Given the description of an element on the screen output the (x, y) to click on. 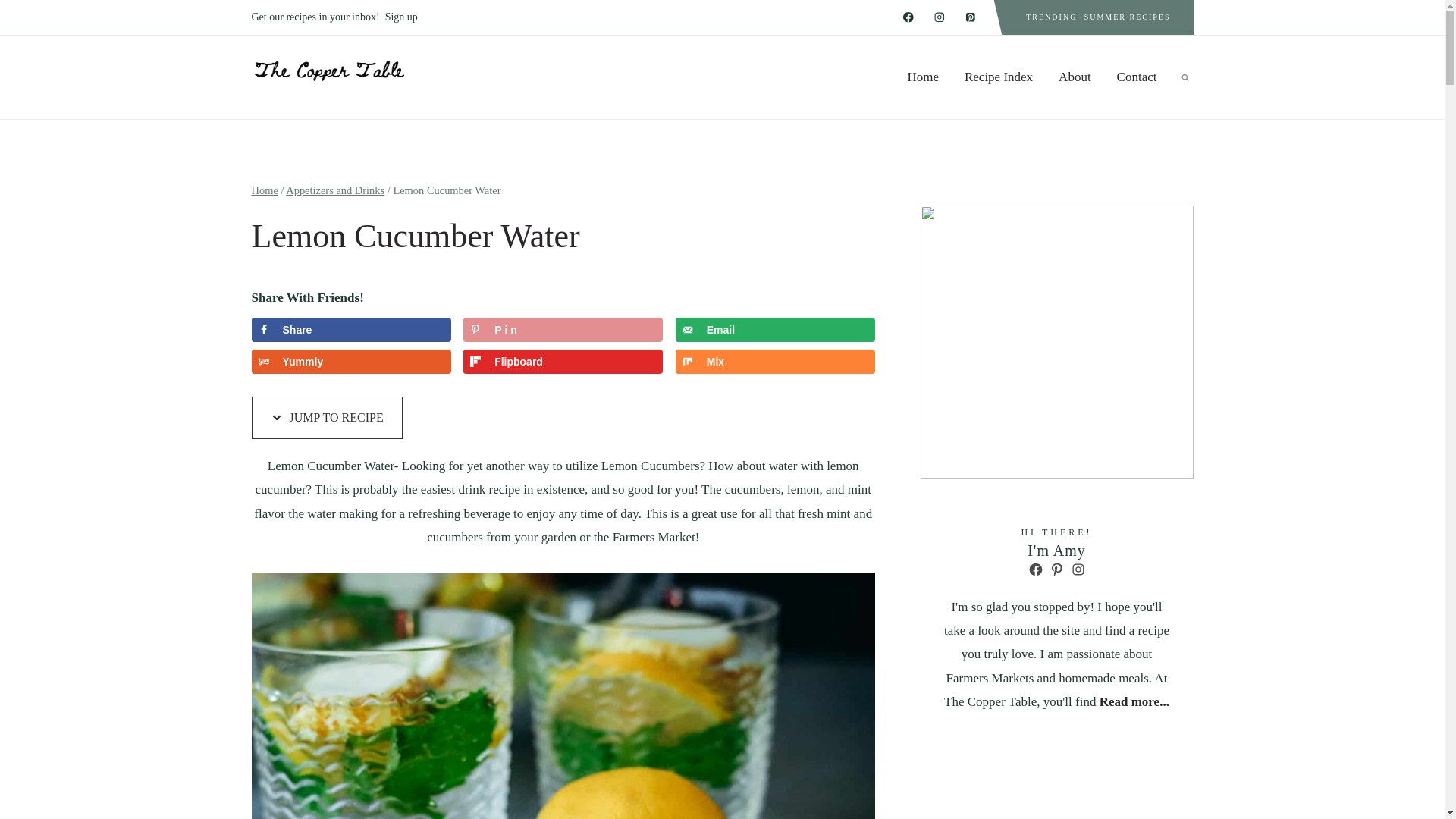
Home (922, 77)
Share (351, 329)
Contact (1136, 77)
Recipe Index (998, 77)
Email (775, 329)
TRENDING: SUMMER RECIPES (1097, 17)
Yummly (351, 361)
Share on Yummly (351, 361)
Save to Pinterest (562, 329)
Share on Flipboard (562, 361)
JUMP TO RECIPE (327, 417)
Share on Mix (775, 361)
Pin (562, 329)
Send over email (775, 329)
Mix (775, 361)
